Given the description of an element on the screen output the (x, y) to click on. 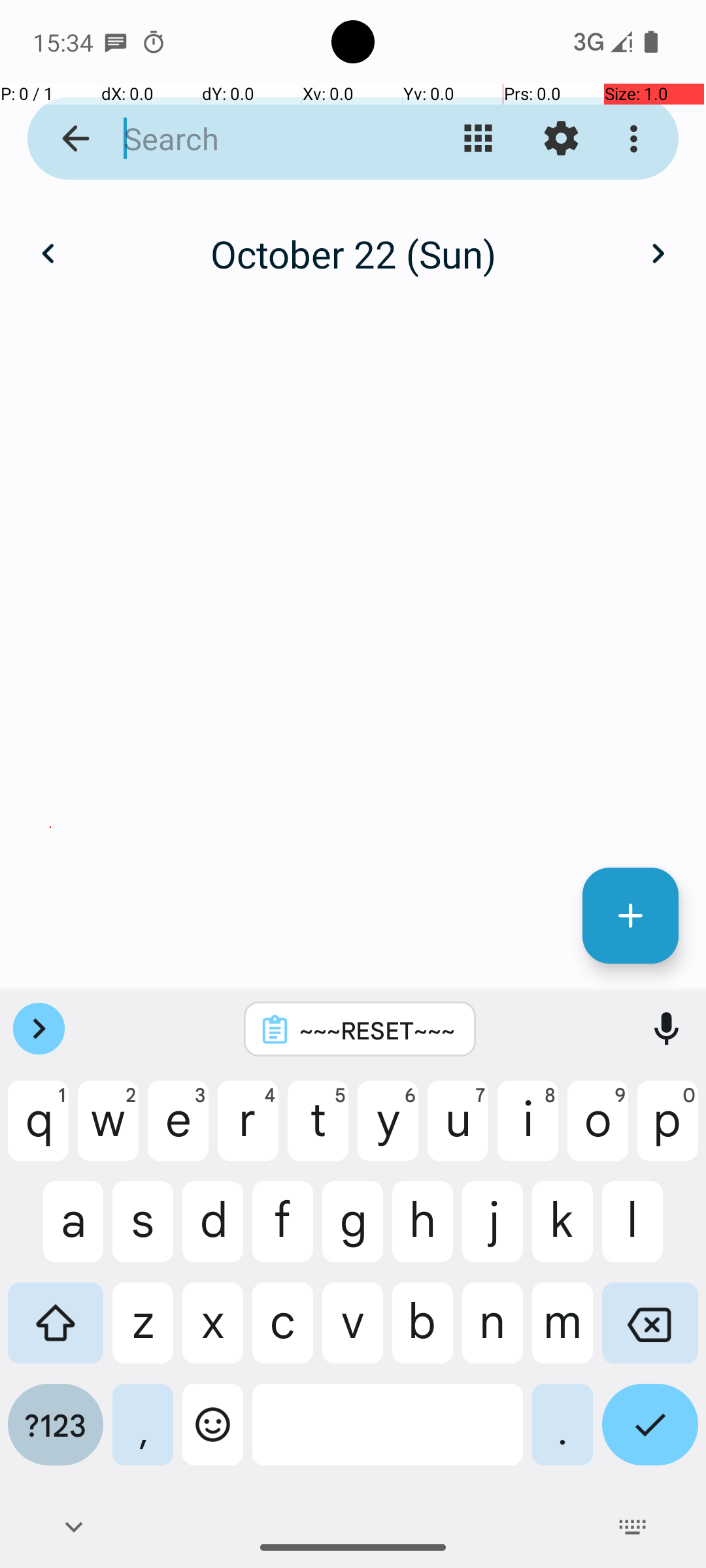
October 22 (Sun) Element type: android.widget.TextView (352, 253)
